Given the description of an element on the screen output the (x, y) to click on. 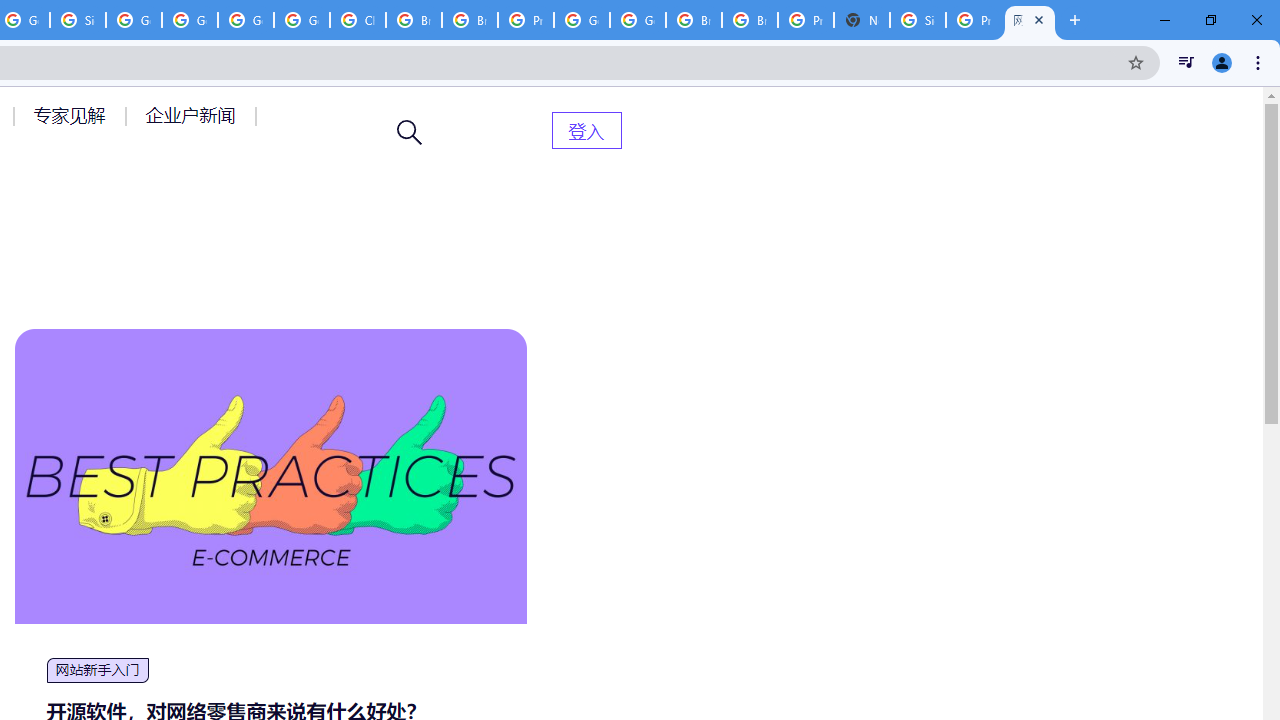
Sign in - Google Accounts (917, 20)
New Tab (861, 20)
